Given the description of an element on the screen output the (x, y) to click on. 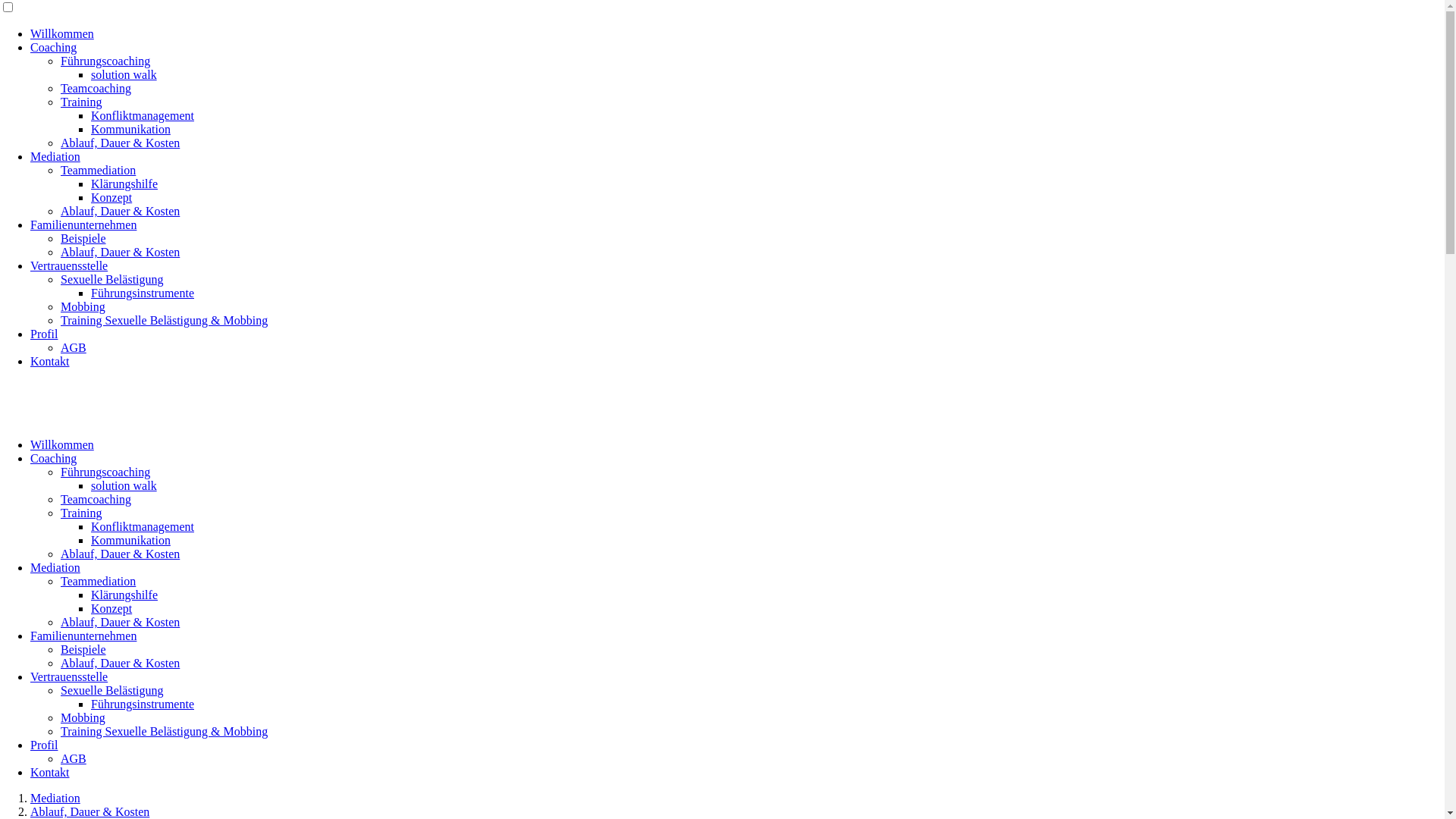
AGB Element type: text (73, 347)
Training Element type: text (81, 101)
Teammediation Element type: text (97, 169)
Konzept Element type: text (111, 197)
Training Element type: text (81, 512)
Kommunikation Element type: text (130, 539)
Willkommen Element type: text (62, 444)
Ablauf, Dauer & Kosten Element type: text (89, 811)
Kommunikation Element type: text (130, 128)
Ablauf, Dauer & Kosten Element type: text (119, 210)
Mediation Element type: text (55, 156)
Familienunternehmen Element type: text (83, 224)
Mediation Element type: text (55, 797)
Konzept Element type: text (111, 608)
Teamcoaching Element type: text (95, 498)
Ablauf, Dauer & Kosten Element type: text (119, 251)
Kontakt Element type: text (49, 360)
Vertrauensstelle Element type: text (68, 676)
solution walk Element type: text (123, 485)
AGB Element type: text (73, 758)
Teammediation Element type: text (97, 580)
Ablauf, Dauer & Kosten Element type: text (119, 621)
Coaching Element type: text (53, 457)
Profil Element type: text (43, 333)
Mobbing Element type: text (82, 717)
Ablauf, Dauer & Kosten Element type: text (119, 662)
Vertrauensstelle Element type: text (68, 265)
Profil Element type: text (43, 744)
Konfliktmanagement Element type: text (142, 526)
solution walk Element type: text (123, 74)
Beispiele Element type: text (83, 649)
Willkommen Element type: text (62, 33)
Mobbing Element type: text (82, 306)
Teamcoaching Element type: text (95, 87)
Ablauf, Dauer & Kosten Element type: text (119, 142)
Mediation Element type: text (55, 567)
Familienunternehmen Element type: text (83, 635)
Beispiele Element type: text (83, 238)
Ablauf, Dauer & Kosten Element type: text (119, 553)
Coaching Element type: text (53, 46)
Kontakt Element type: text (49, 771)
Konfliktmanagement Element type: text (142, 115)
